Given the description of an element on the screen output the (x, y) to click on. 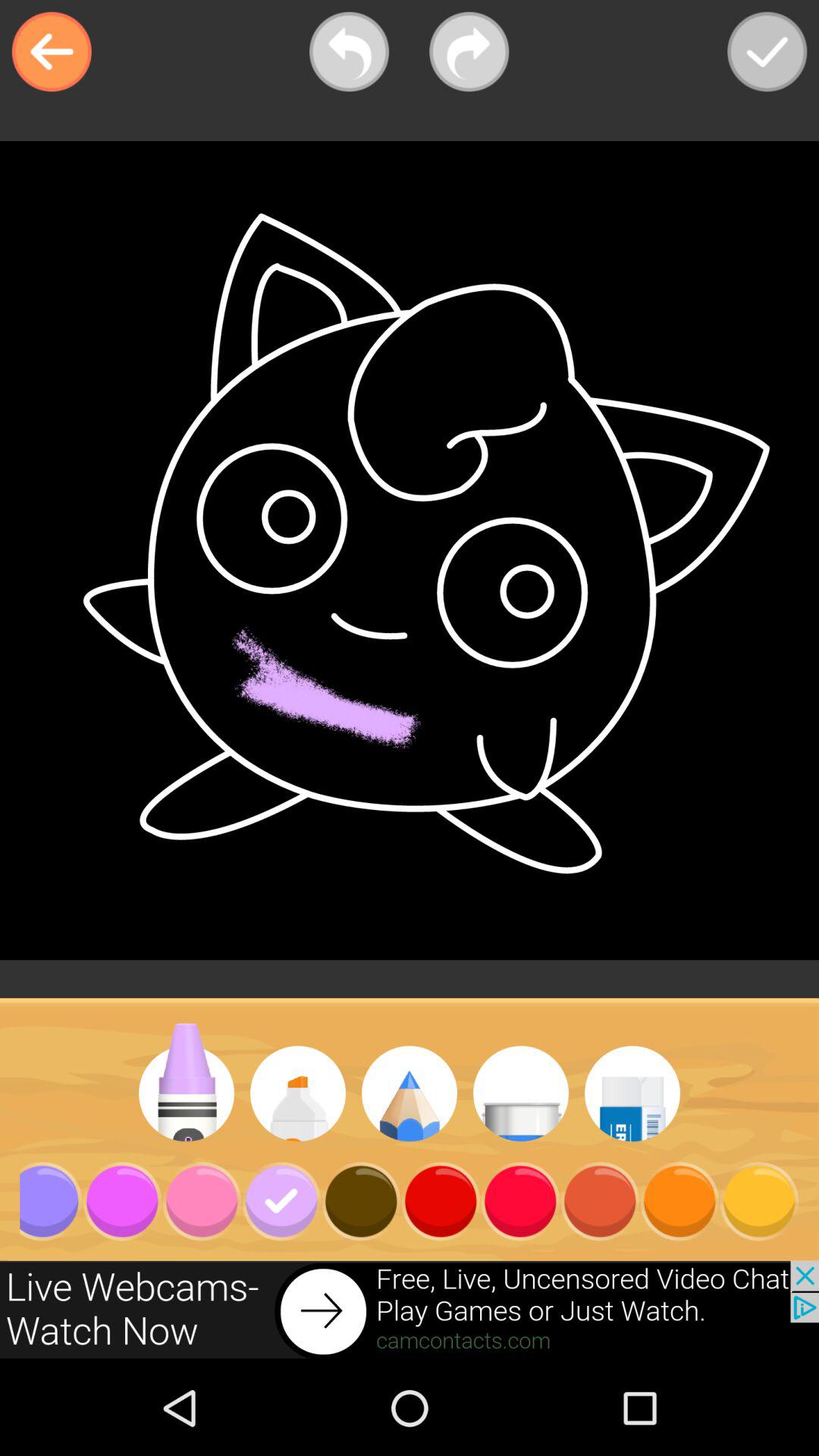
live webcams- watch noe free live uncensored video chat play games or just watch (409, 1310)
